Given the description of an element on the screen output the (x, y) to click on. 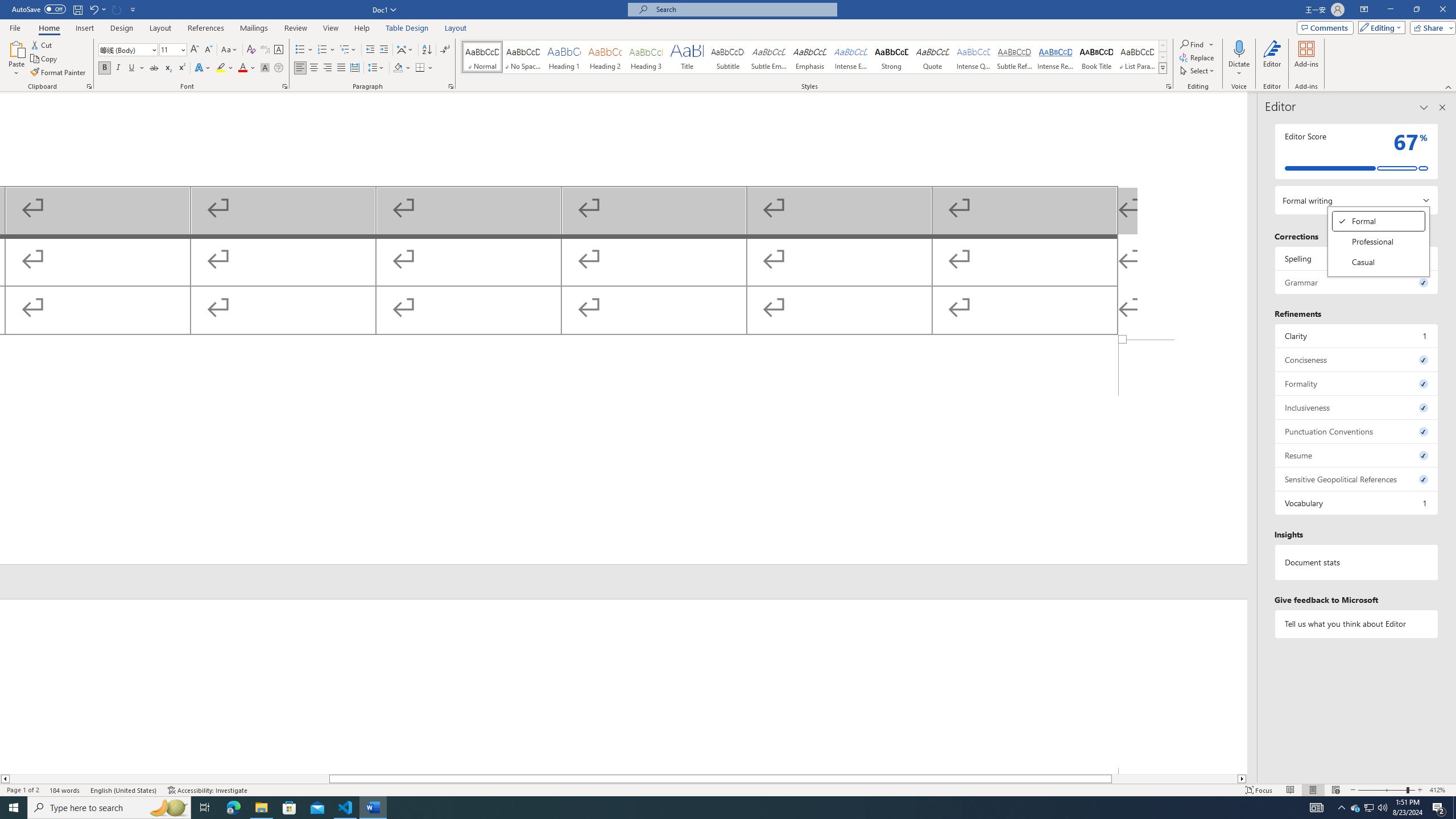
Header -Section 1- (623, 685)
Emphasis (809, 56)
Heading 1 (564, 56)
Editing (1379, 27)
Undo Outline Move Up (96, 9)
